Given the description of an element on the screen output the (x, y) to click on. 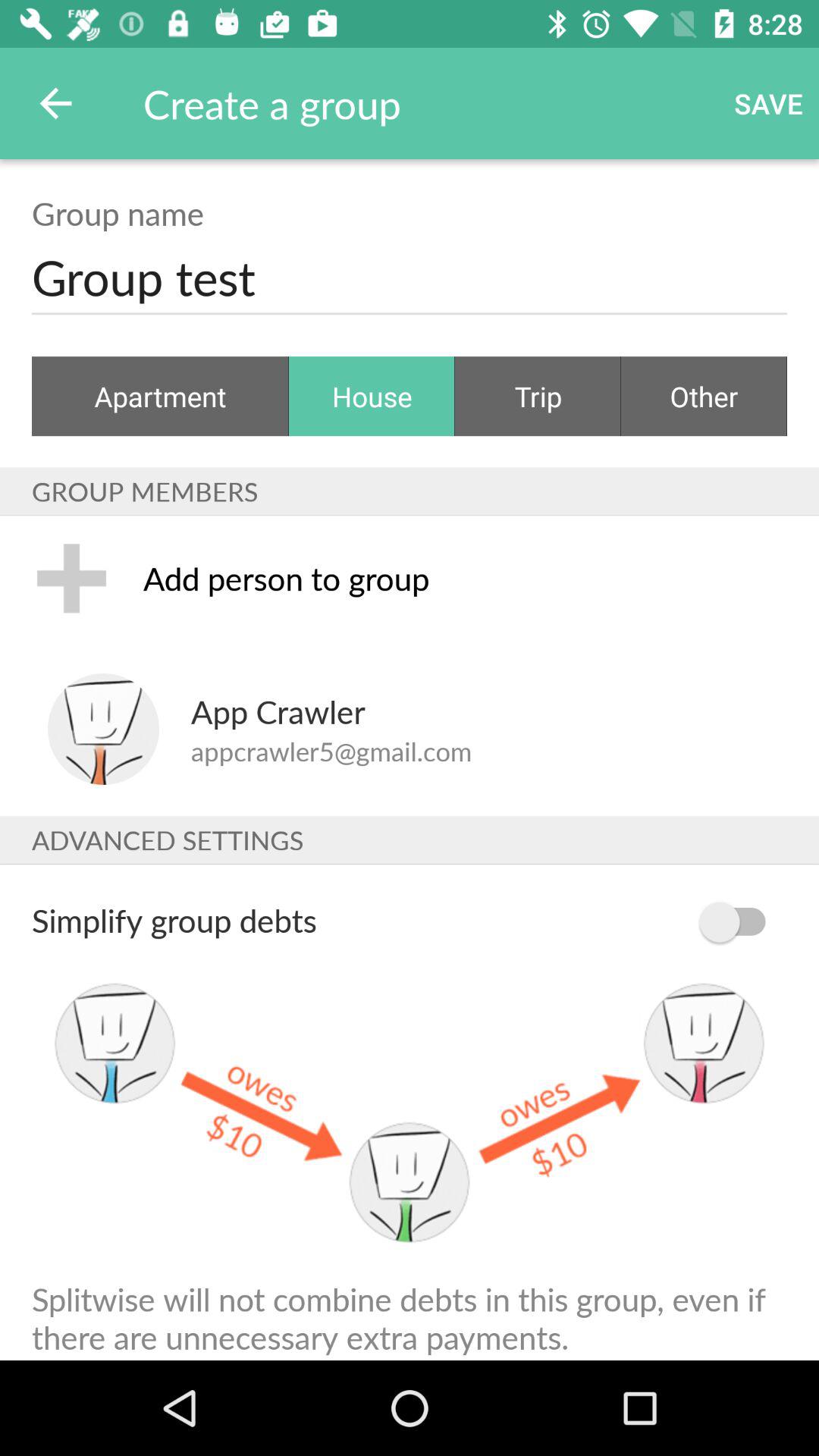
turn off icon above the group name icon (55, 103)
